Given the description of an element on the screen output the (x, y) to click on. 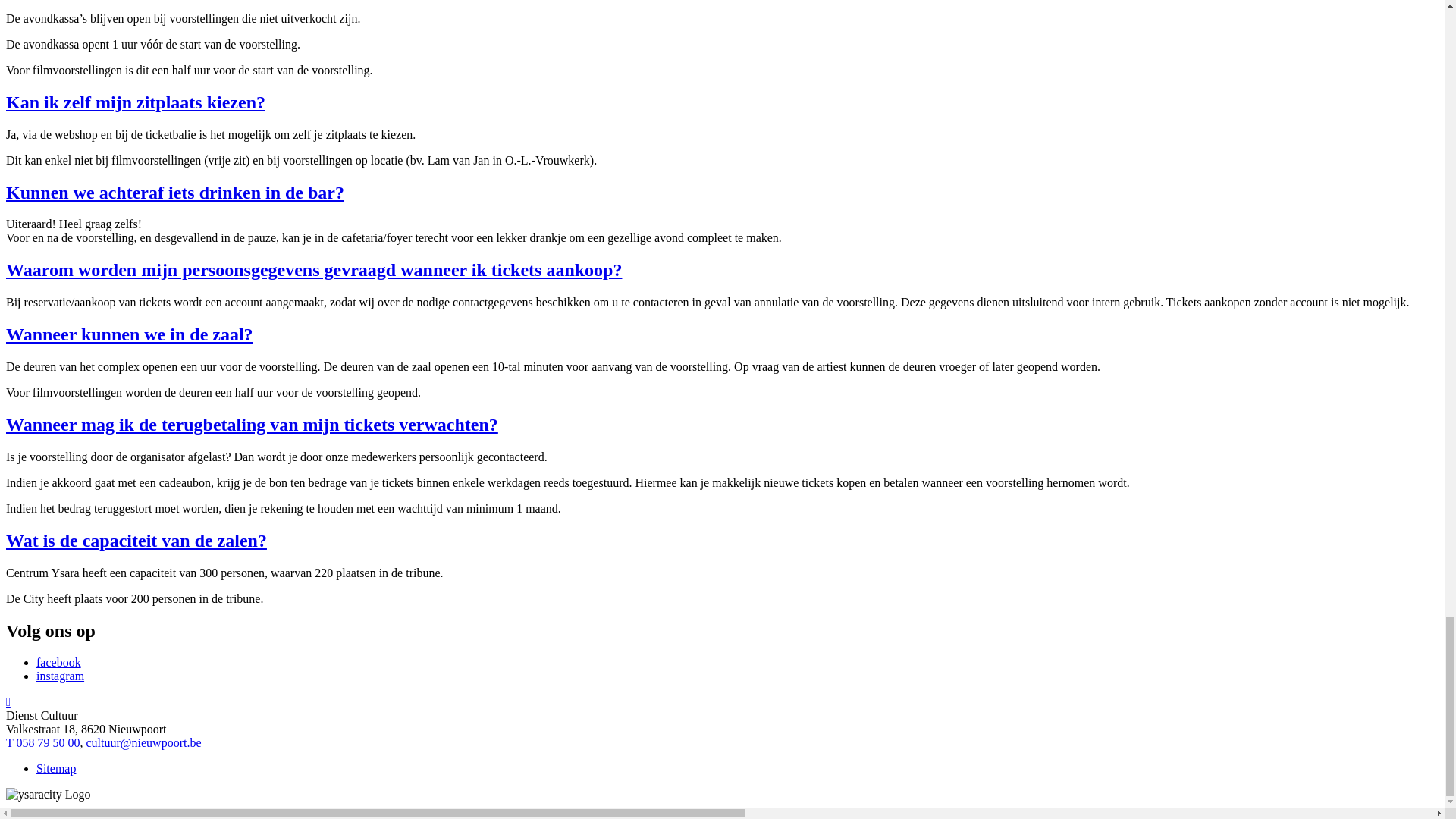
Inschrijven Element type: text (124, 479)
Zaalplan Element type: text (118, 110)
Film: Knor (1-3LO) Element type: text (176, 370)
Ga naar hoofdinhoud Element type: text (87, 18)
Film: onafscheidelijke duo's (1K0 en 2KO) Element type: text (232, 315)
Ga naar zoek Element type: text (68, 31)
Schoolprogramma lager onderwijs 2023 - 2024 Element type: text (211, 342)
Film: Lunana: a yak in the classroom (1-2S0) Element type: text (237, 438)
Praktische info Element type: text (72, 83)
Ga naar de startpagina Element type: hover (53, 57)
Toegankelijkheid Element type: text (139, 137)
Tickets & Tarieven Element type: text (143, 97)
Huur de City Element type: text (128, 260)
Scholen Element type: text (55, 288)
Theater: Vuil (1-3KO) Element type: text (181, 329)
Technische fiche Element type: text (137, 192)
Film: Falcon Lake (3-6SO) Element type: text (193, 465)
naar de City Element type: text (156, 165)
Privacy Element type: text (54, 506)
Zaal huren Element type: text (62, 233)
Film: Zeevonk (3-6LO) Element type: text (184, 397)
Muziektheater: Badaboem! (2-6LO) Element type: text (215, 410)
Bereikbaarheid & Parkeren Element type: text (163, 151)
naar Centrum Ysara Element type: text (175, 178)
Theater: SOLO (1-4S0) Element type: text (184, 451)
Veel gestelde vragen Element type: text (147, 206)
Schoolprogramma secundair onderwijs 2023 - 2024 Element type: text (222, 424)
Danstheater: Figure it Out (1-4LO) Element type: text (212, 383)
Huisregels Element type: text (122, 124)
Schoolprogramma kleuteronderwijs 2023 - 2024 Element type: text (214, 301)
Theater: Vuil (1LO) Element type: text (175, 356)
Huur Centrum Ysara Element type: text (147, 247)
